Given the description of an element on the screen output the (x, y) to click on. 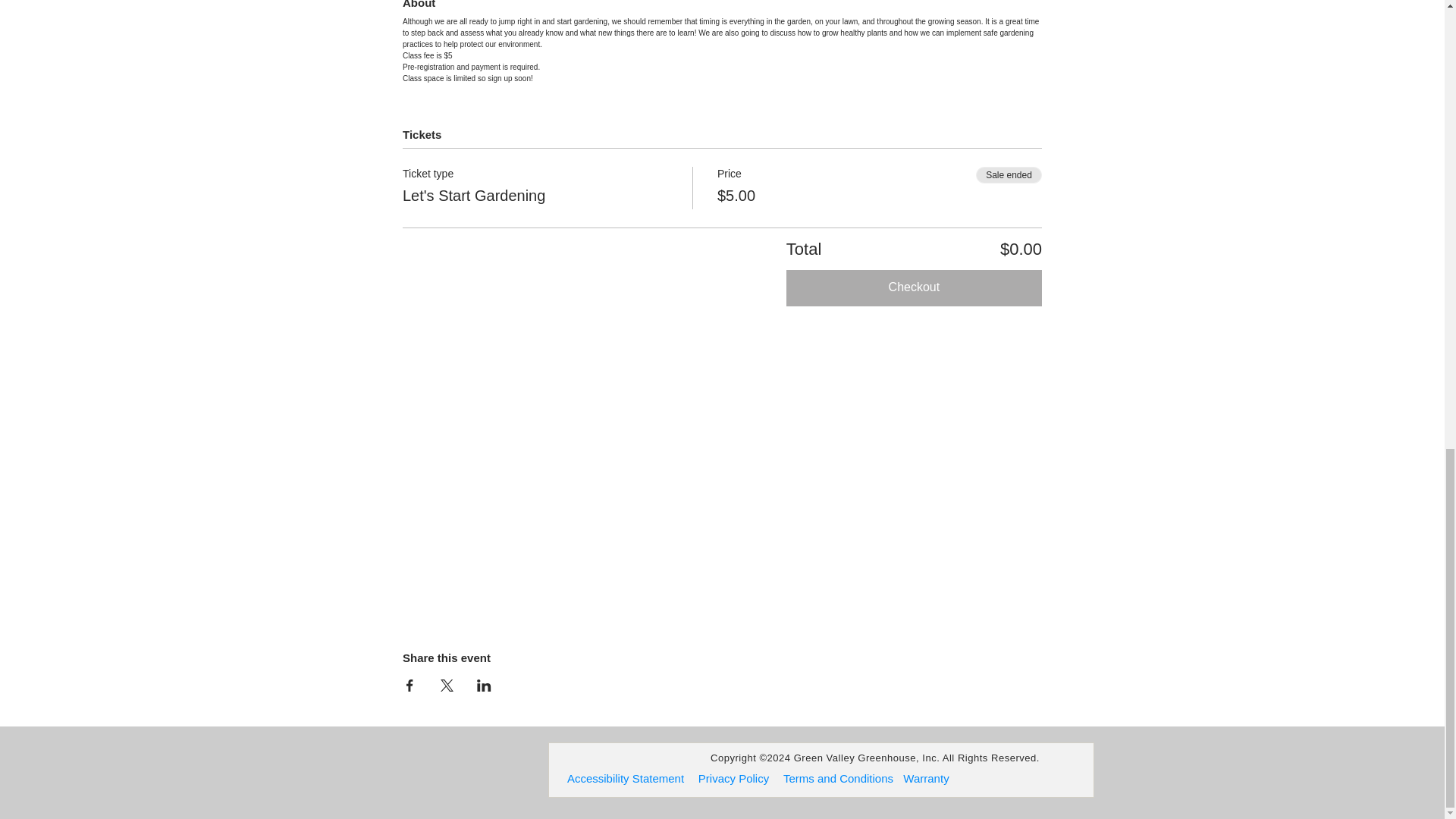
Privacy Policy (734, 778)
Accessibility Statement (625, 778)
Checkout (914, 288)
Terms and Conditions (838, 778)
Warranty (925, 778)
